Given the description of an element on the screen output the (x, y) to click on. 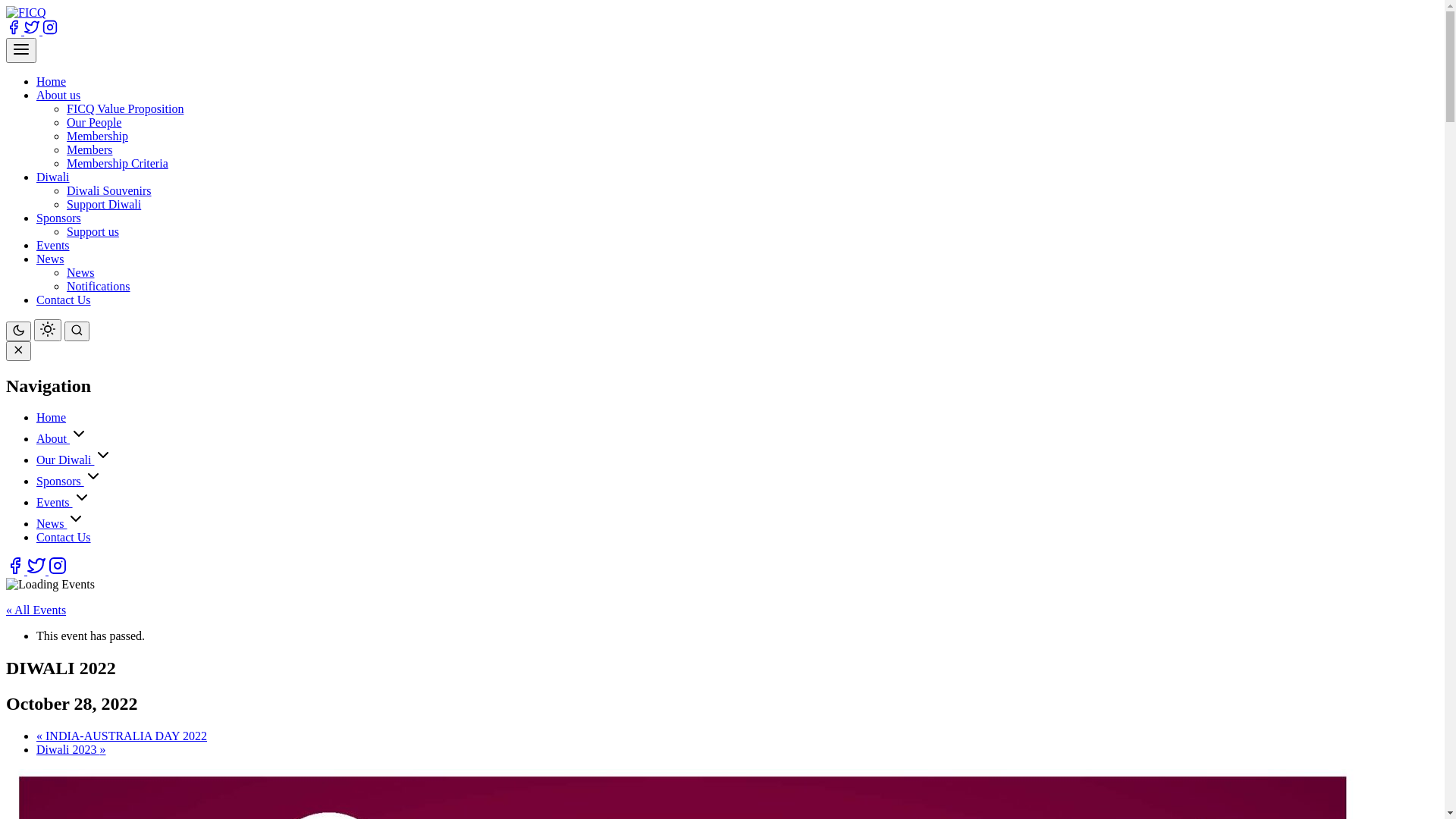
Diwali Souvenirs Element type: text (108, 190)
Toggle Darkmode Element type: hover (18, 331)
Sponsors Element type: text (58, 217)
Our Diwali Element type: text (65, 459)
About Element type: text (52, 438)
Contact Us Element type: text (63, 536)
News Element type: text (49, 258)
Events Element type: text (52, 244)
Membership Element type: text (97, 135)
About us Element type: text (58, 94)
Our People Element type: text (93, 122)
Events Element type: text (54, 501)
Notifications Element type: text (98, 285)
News Element type: text (80, 272)
Home Element type: text (50, 417)
Diwali Element type: text (52, 176)
Membership Criteria Element type: text (117, 162)
FICQ Value Proposition Element type: text (124, 108)
Members Element type: text (89, 149)
Toggle Darkmode Element type: hover (47, 330)
Support us Element type: text (92, 231)
Contact Us Element type: text (63, 299)
Home Element type: text (50, 81)
News Element type: text (51, 523)
Sponsors Element type: text (60, 480)
Support Diwali Element type: text (103, 203)
